Given the description of an element on the screen output the (x, y) to click on. 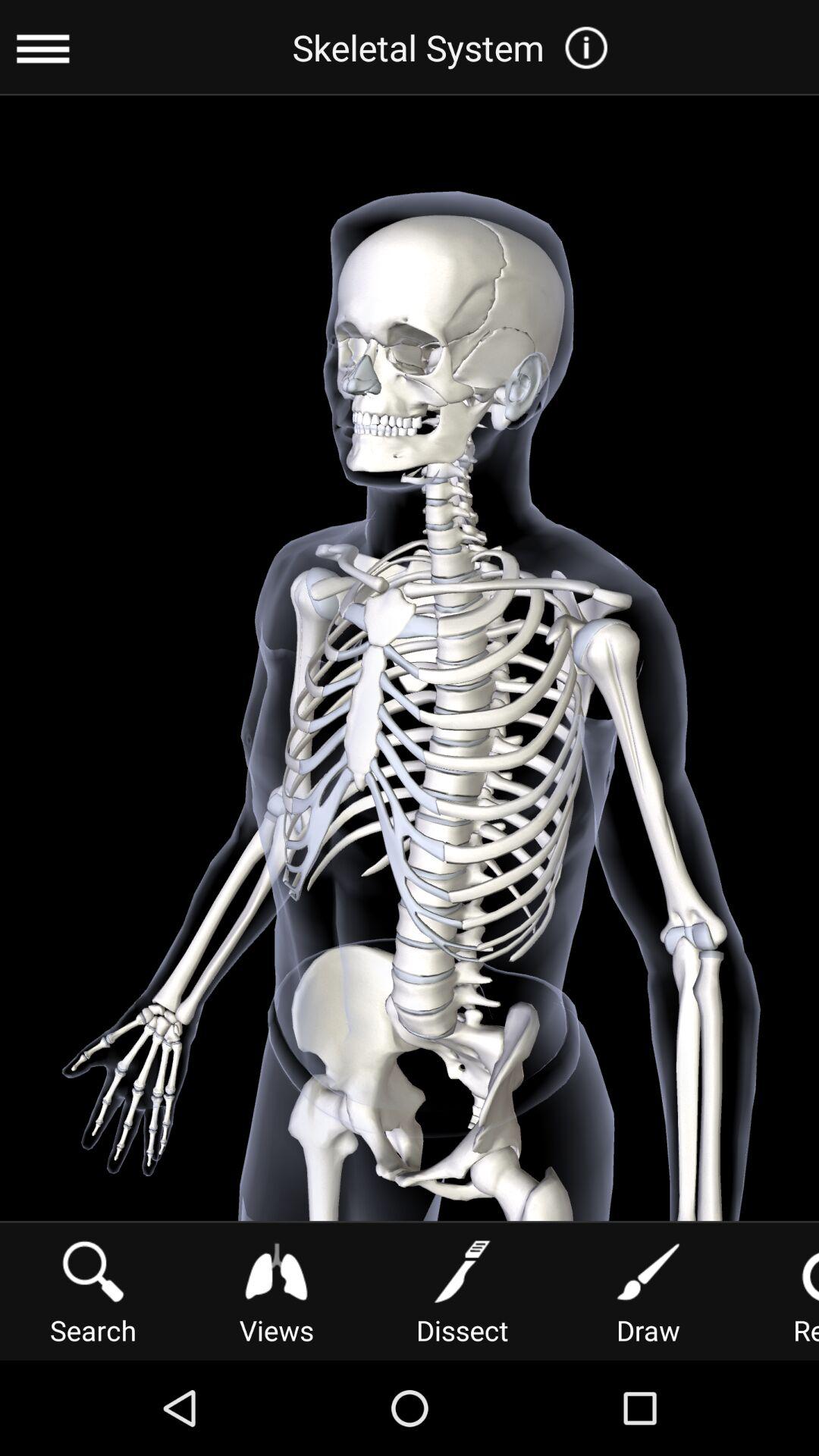
press button to the left of the views icon (93, 1290)
